Given the description of an element on the screen output the (x, y) to click on. 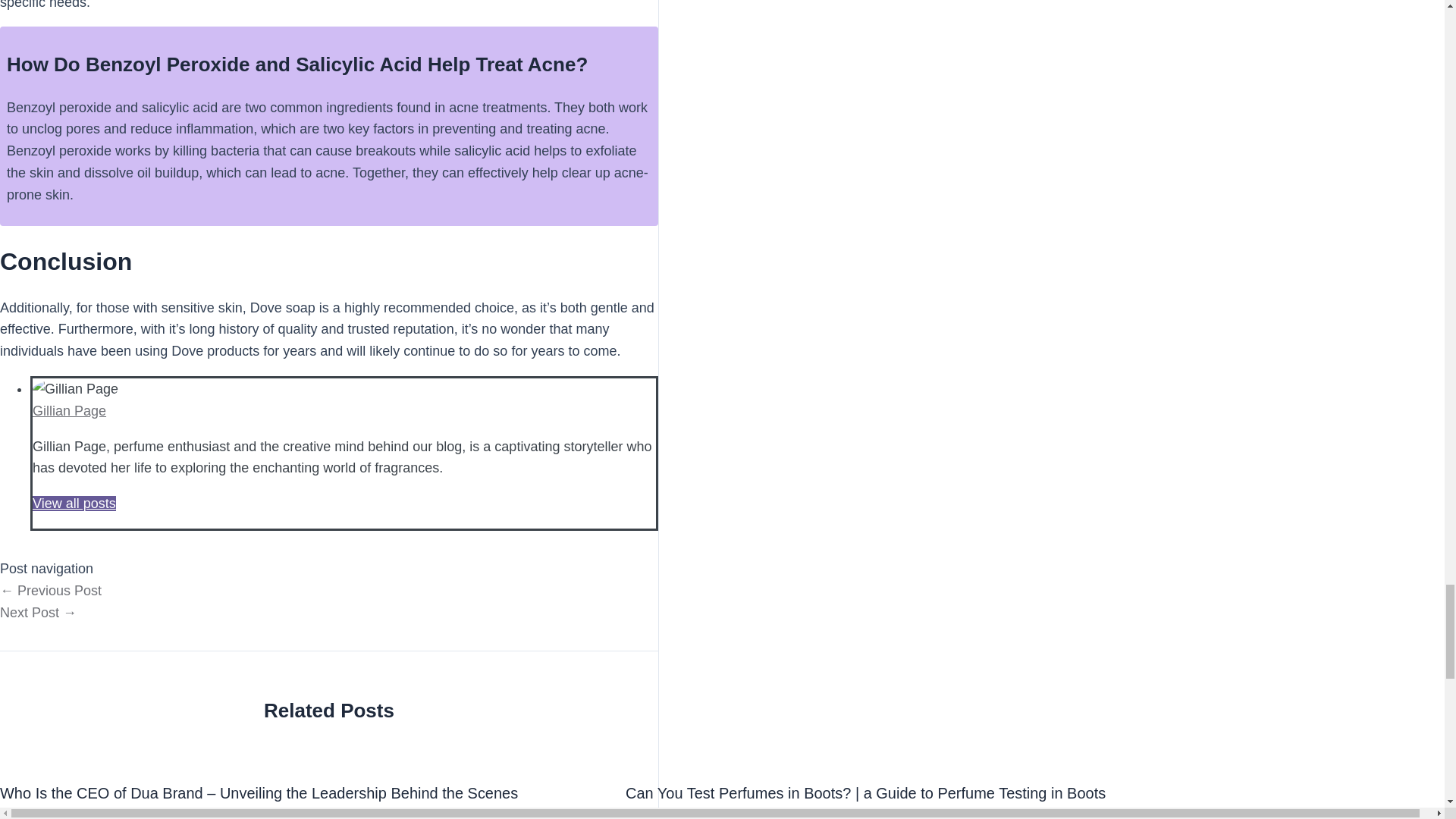
View all posts (74, 503)
Gillian Page (69, 410)
Perfume (831, 814)
View all posts (74, 503)
Brands and Products (130, 814)
View all posts by Gillian Page (44, 814)
Gillian Page (69, 410)
Brands and Products (756, 814)
Gillian Page (44, 814)
Gillian Page (670, 814)
View all posts by Gillian Page (670, 814)
